Given the description of an element on the screen output the (x, y) to click on. 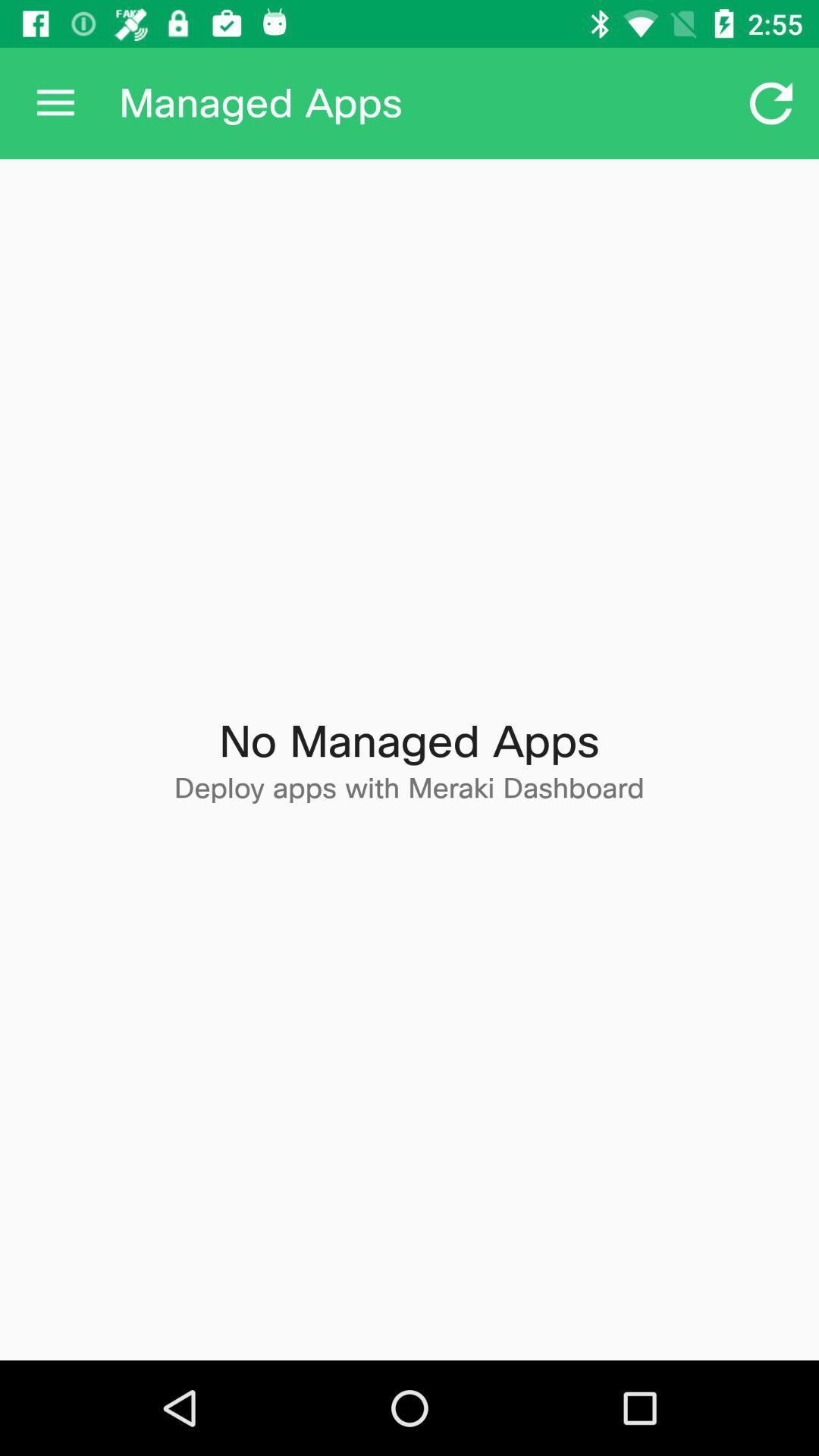
choose icon at the top right corner (771, 103)
